Given the description of an element on the screen output the (x, y) to click on. 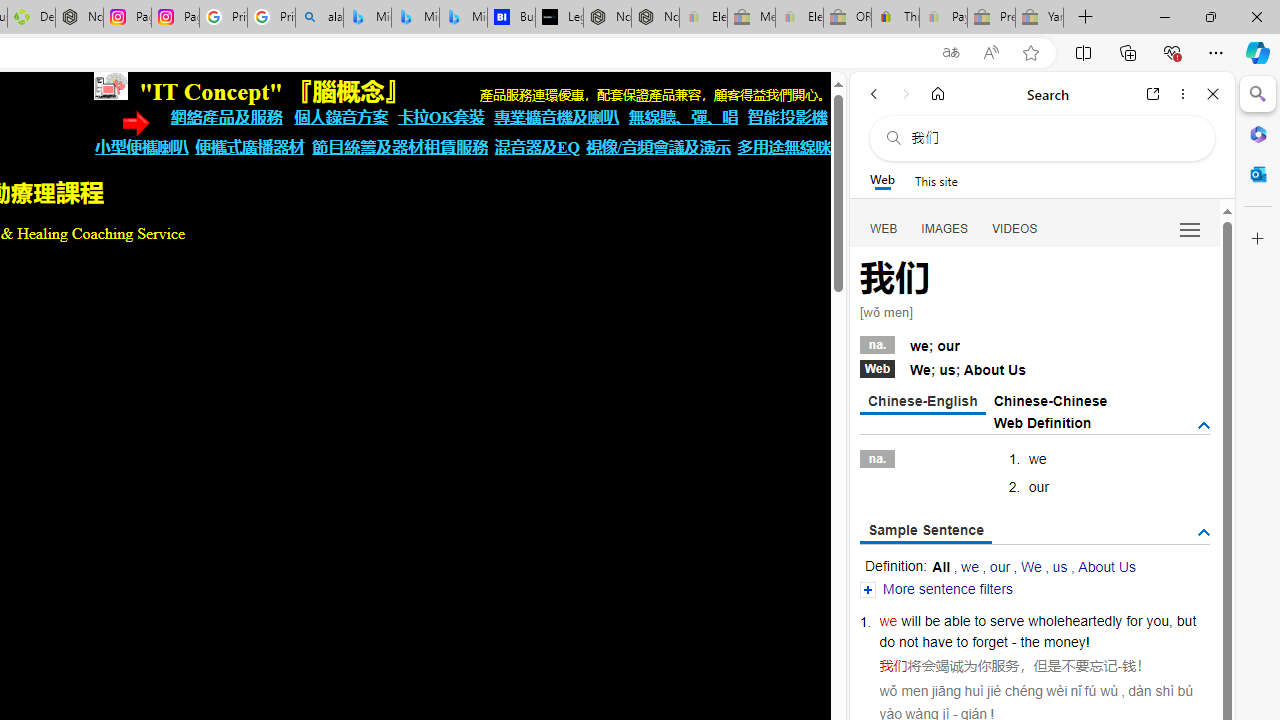
Open link in new tab (1153, 93)
you (1157, 620)
be (932, 620)
Press Room - eBay Inc. - Sleeping (991, 17)
, (1170, 620)
